Given the description of an element on the screen output the (x, y) to click on. 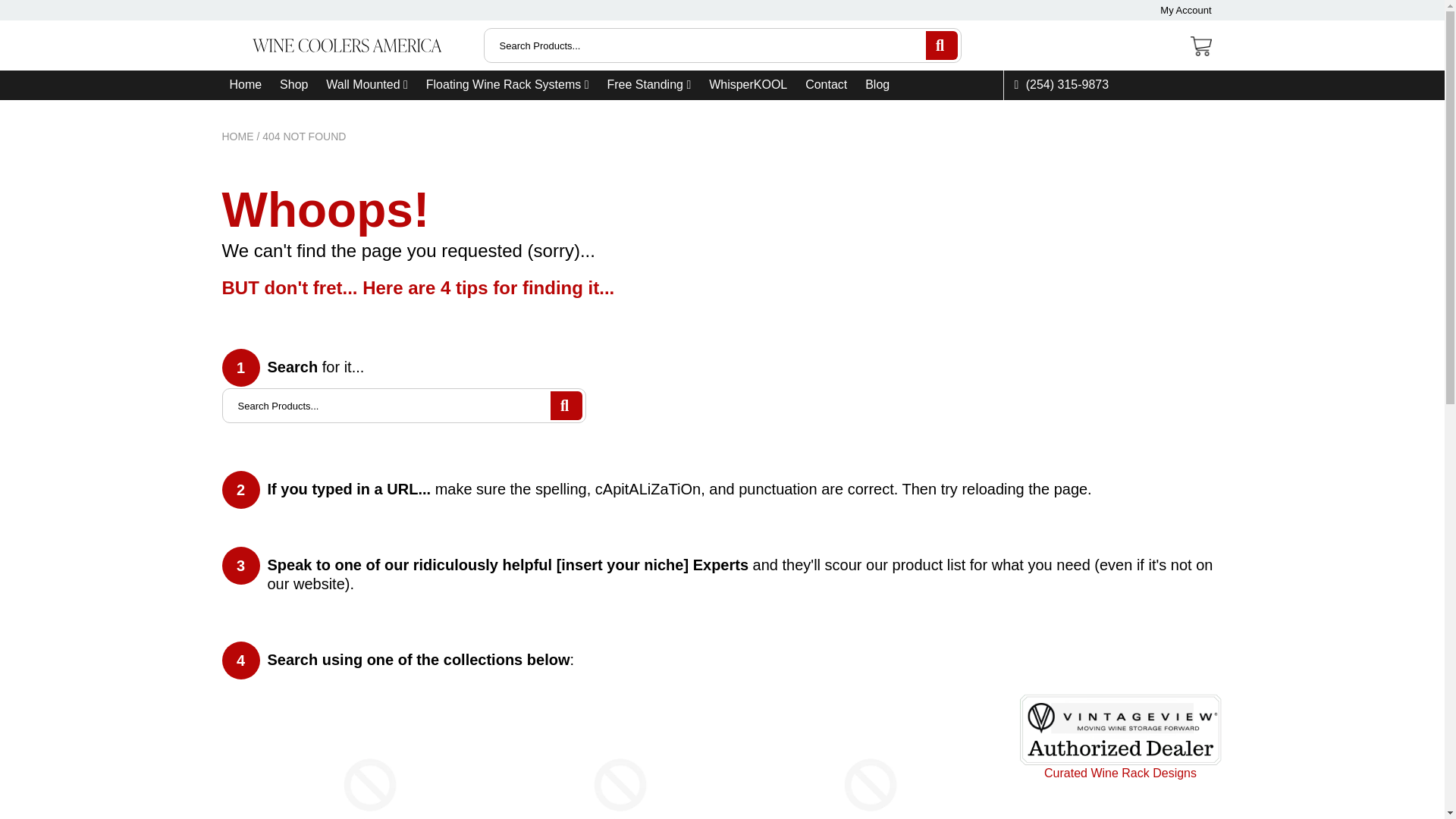
WhisperKOOL (748, 84)
Back to the home page (237, 136)
My Account (1185, 9)
Wall Mounted (366, 84)
Shop (293, 84)
Floating Wine Rack Systems (507, 84)
Home (245, 84)
Contact (826, 84)
Free Standing (648, 84)
